Given the description of an element on the screen output the (x, y) to click on. 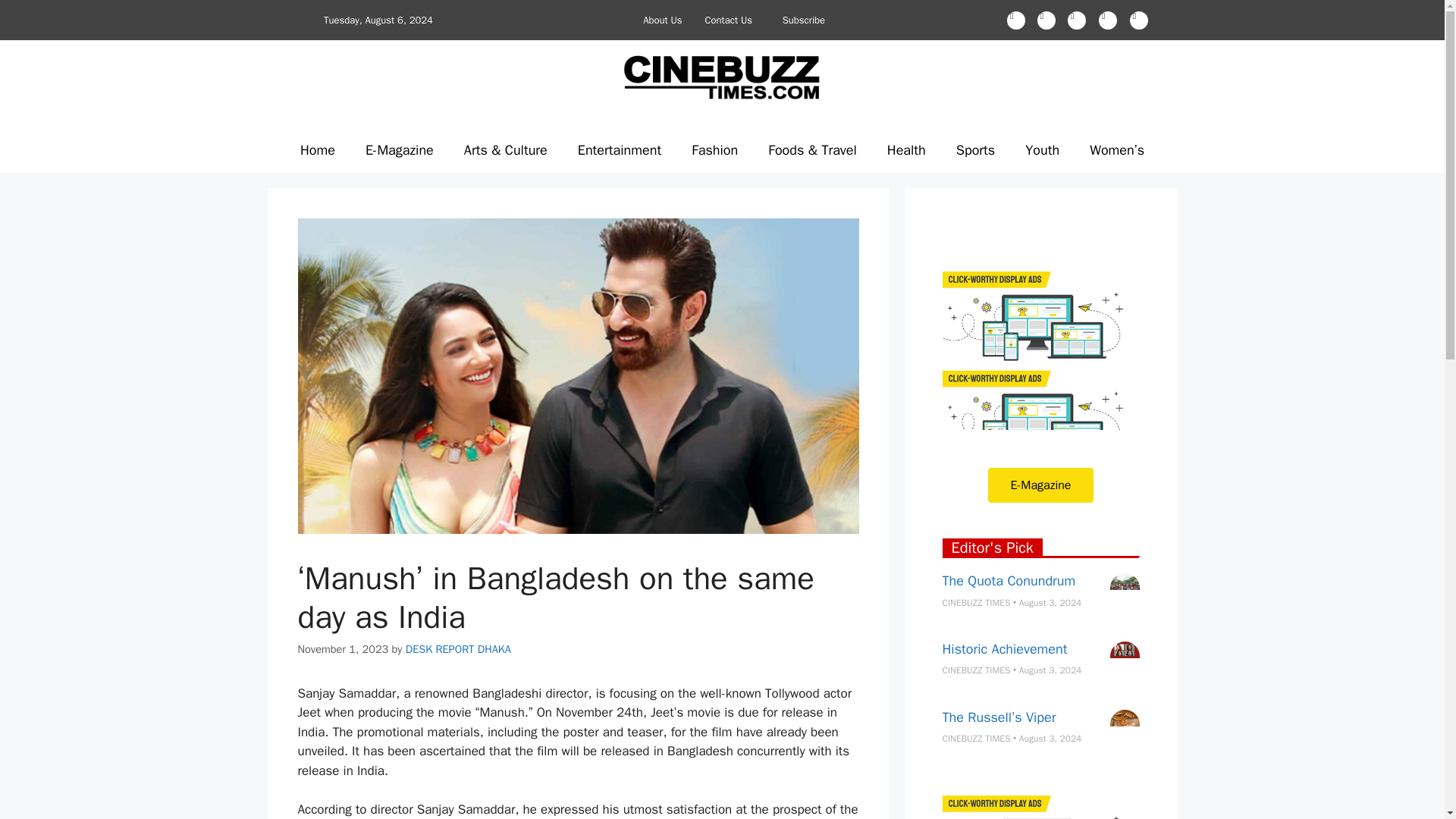
Historic Achievement (1004, 648)
View all posts by DESK REPORT DHAKA (458, 649)
Fashion (714, 149)
Subscribe (803, 19)
About Us (662, 19)
Entertainment (619, 149)
Youth (1042, 149)
Sports (975, 149)
E-Magazine (399, 149)
The Quota Conundrum (1008, 580)
Home (317, 149)
Contact Us (728, 19)
E-Magazine (1041, 484)
DESK REPORT DHAKA (458, 649)
Health (906, 149)
